Given the description of an element on the screen output the (x, y) to click on. 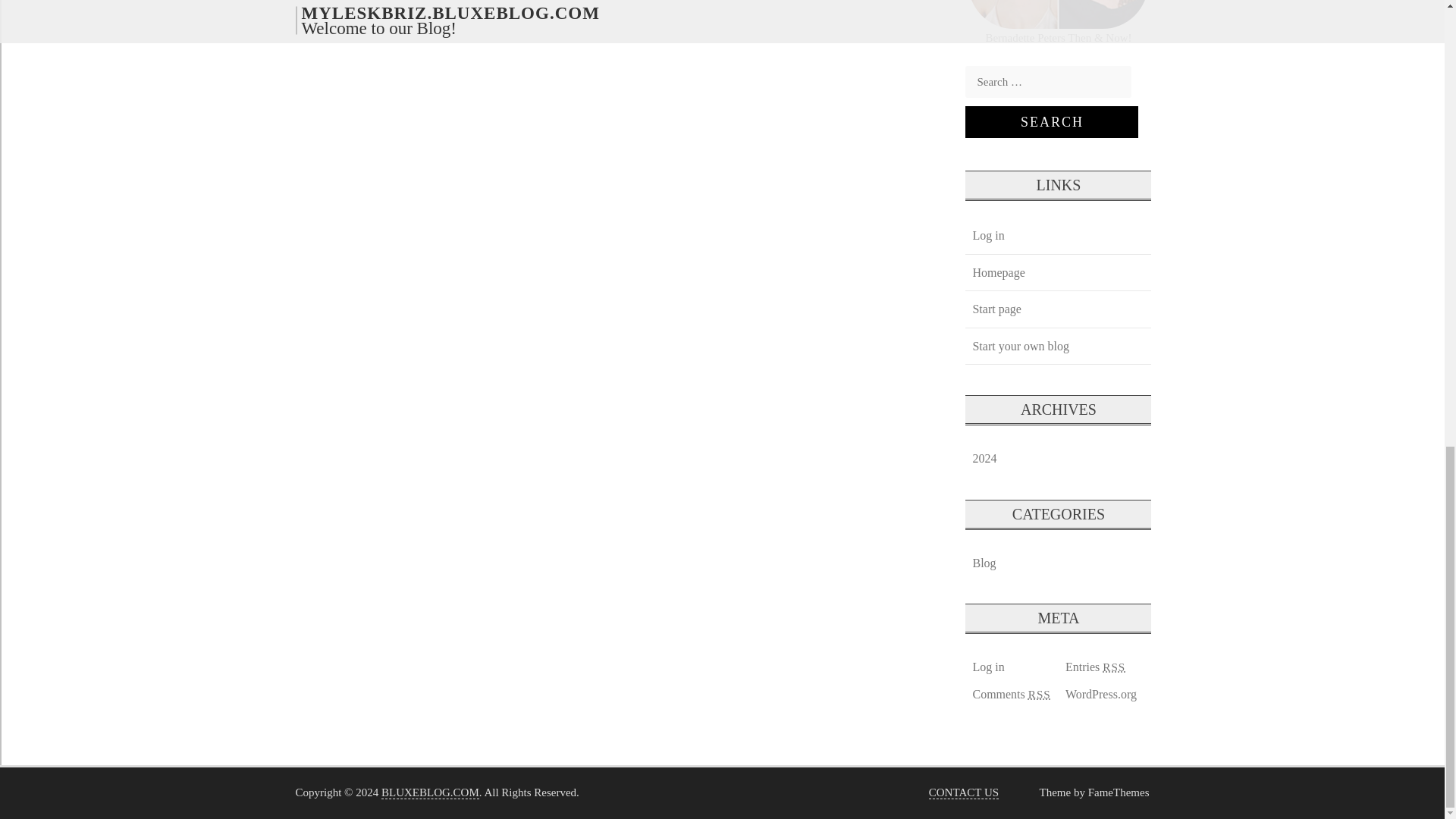
Entries RSS (1095, 666)
WordPress.org (1100, 693)
Log in (987, 234)
Blog (984, 562)
CONTACT US (963, 792)
Start page (996, 308)
Really Simple Syndication (1113, 666)
Search (1051, 122)
Search (1051, 122)
